Given the description of an element on the screen output the (x, y) to click on. 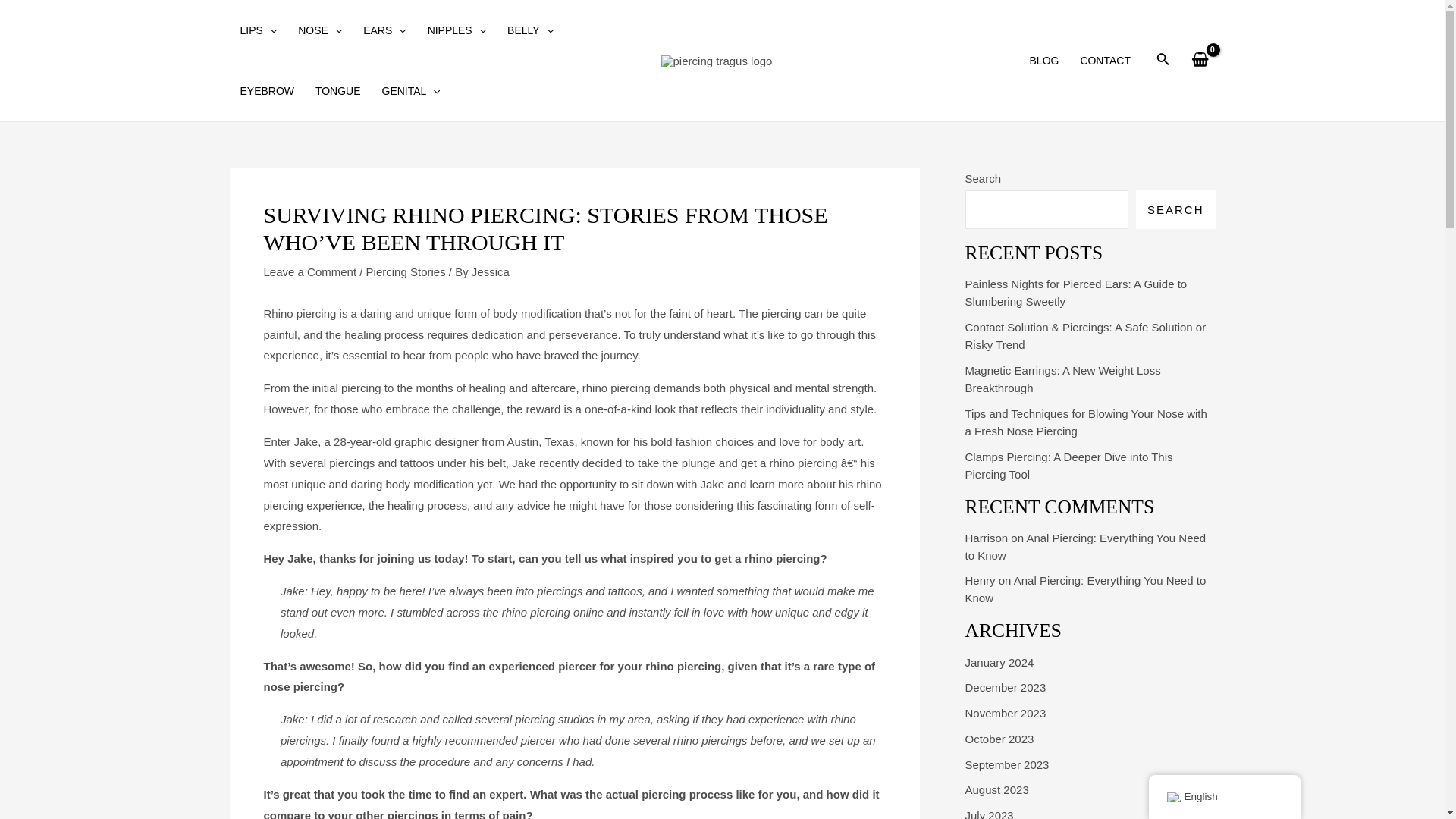
View all posts by Jessica (490, 271)
EYEBROW (266, 90)
English (1172, 796)
BELLY (530, 30)
GENITAL (411, 90)
NIPPLES (456, 30)
LIPS (257, 30)
EARS (384, 30)
NOSE (319, 30)
TONGUE (337, 90)
